Given the description of an element on the screen output the (x, y) to click on. 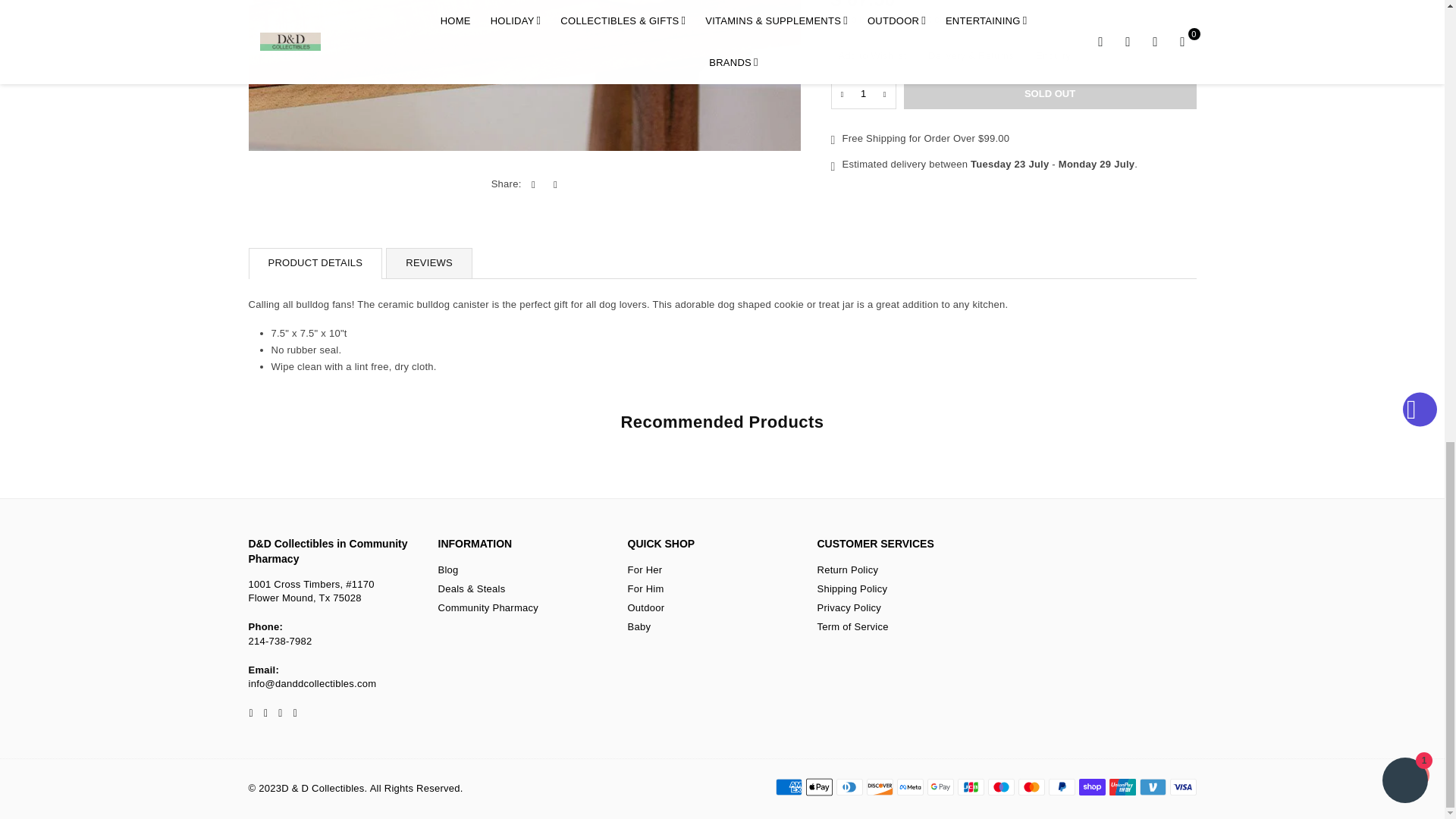
Discover (879, 787)
Maestro (1000, 787)
Diners Club (848, 787)
American Express (788, 787)
Visa (1182, 787)
Union Pay (1121, 787)
Meta Pay (909, 787)
Shop Pay (1091, 787)
Apple Pay (818, 787)
Venmo (1152, 787)
PayPal (1061, 787)
Mastercard (1030, 787)
JCB (970, 787)
Google Pay (939, 787)
